Given the description of an element on the screen output the (x, y) to click on. 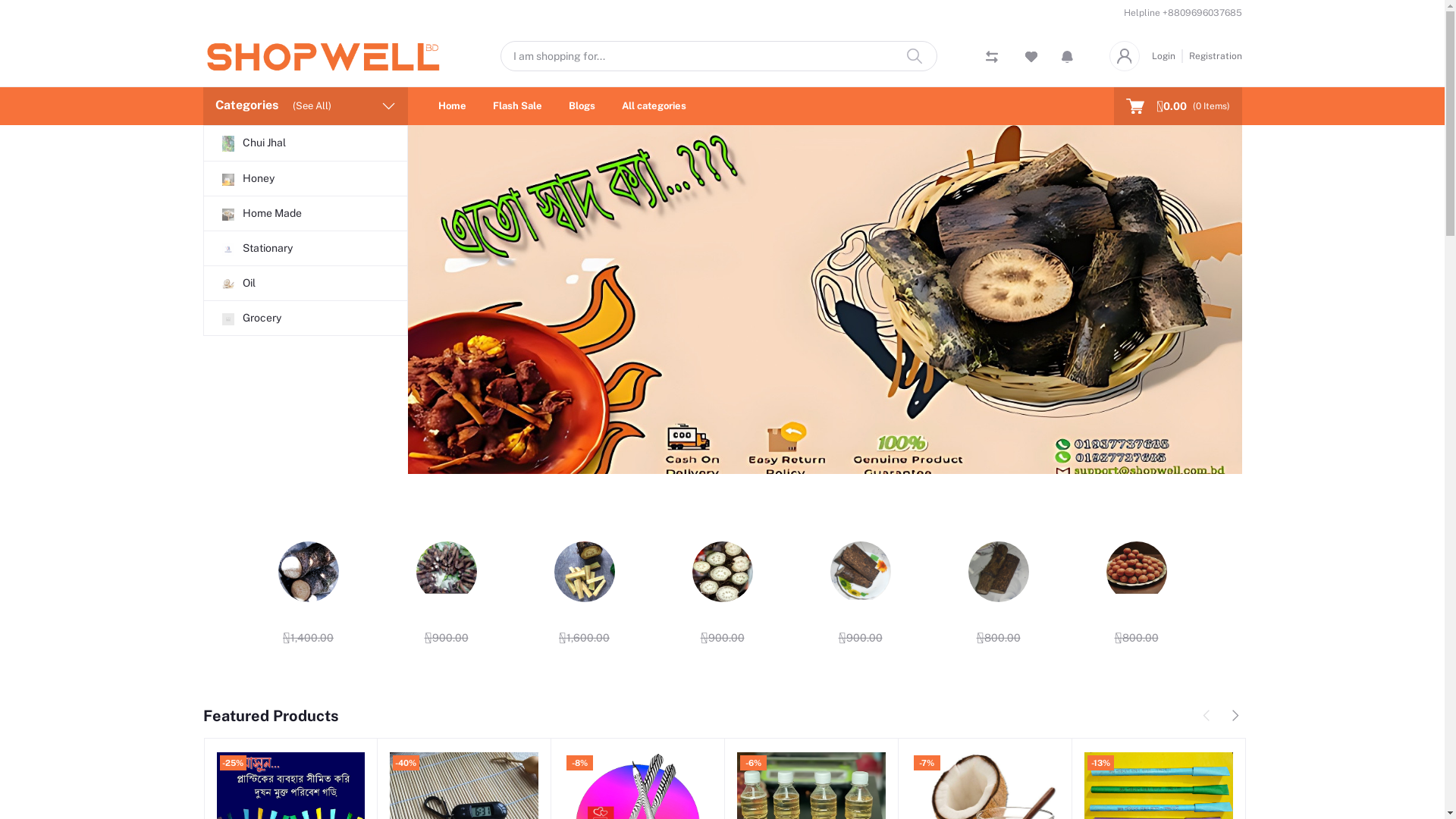
(See All) Element type: text (311, 105)
Oil Element type: text (304, 283)
Flash Sale Element type: text (517, 105)
View All Element type: text (1186, 522)
Home Element type: text (452, 105)
Stationary Element type: text (304, 248)
Grocery Element type: text (304, 318)
All categories Element type: text (653, 105)
Honey Element type: text (304, 178)
Chui Jhal Element type: text (304, 142)
Login Element type: text (1166, 55)
Blogs Element type: text (581, 105)
Registration Element type: text (1212, 56)
Helpline +8809696037685 Element type: text (1182, 12)
Home Made Element type: text (304, 213)
